Given the description of an element on the screen output the (x, y) to click on. 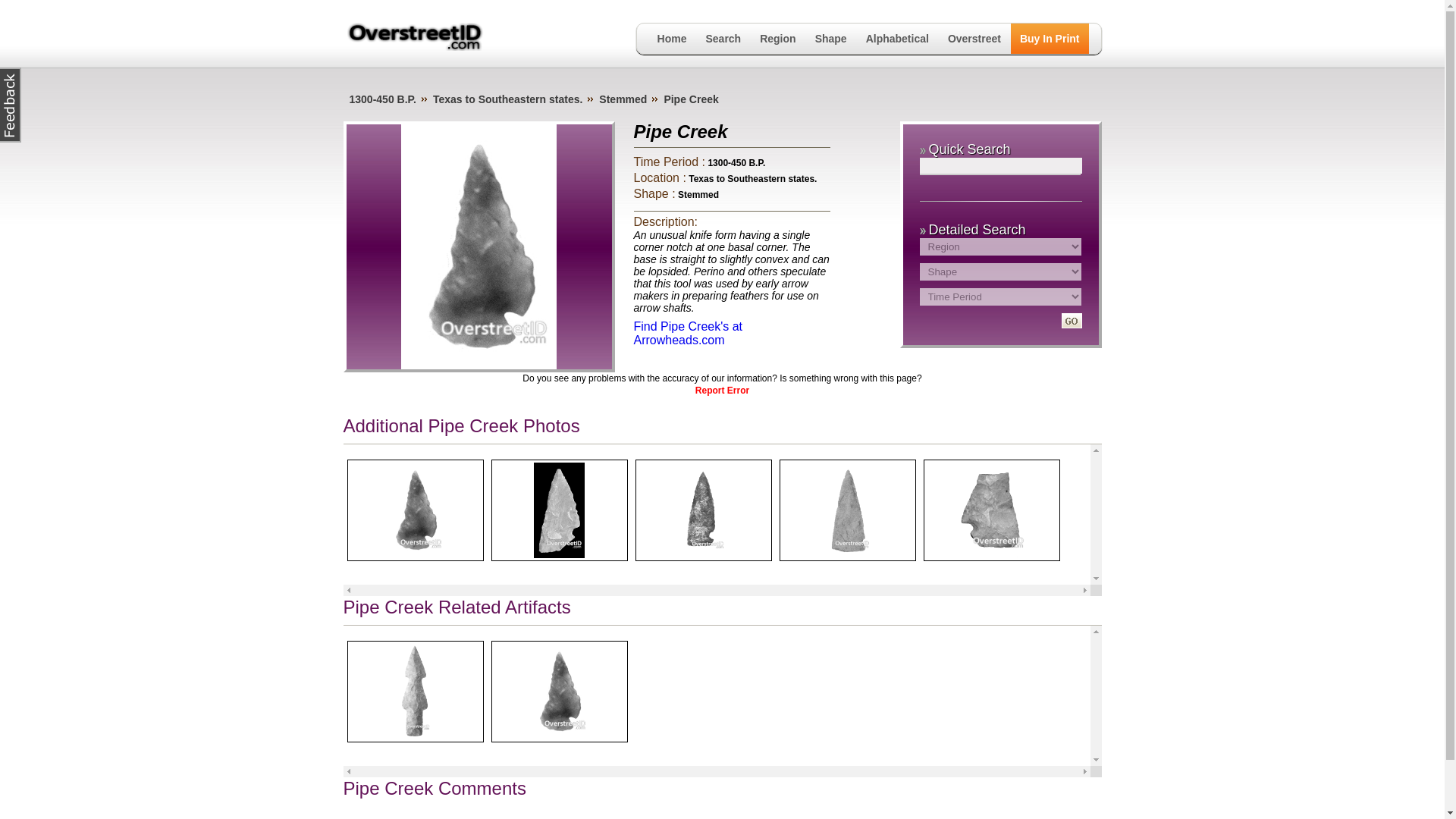
Texas to Southeastern states. (507, 98)
Go (1071, 320)
Find Pipe Creek's at Arrowheads.com (687, 333)
1300-450 B.P. (736, 163)
Buy In Print (1049, 38)
1300-450 B.P. (381, 98)
Search (722, 38)
Texas to Southeastern states. (752, 178)
Go (1071, 320)
Pipe Creek (690, 98)
Report Error (722, 389)
Shape (831, 38)
Stemmed (698, 194)
Overstreet (974, 38)
Alphabetical (897, 38)
